Given the description of an element on the screen output the (x, y) to click on. 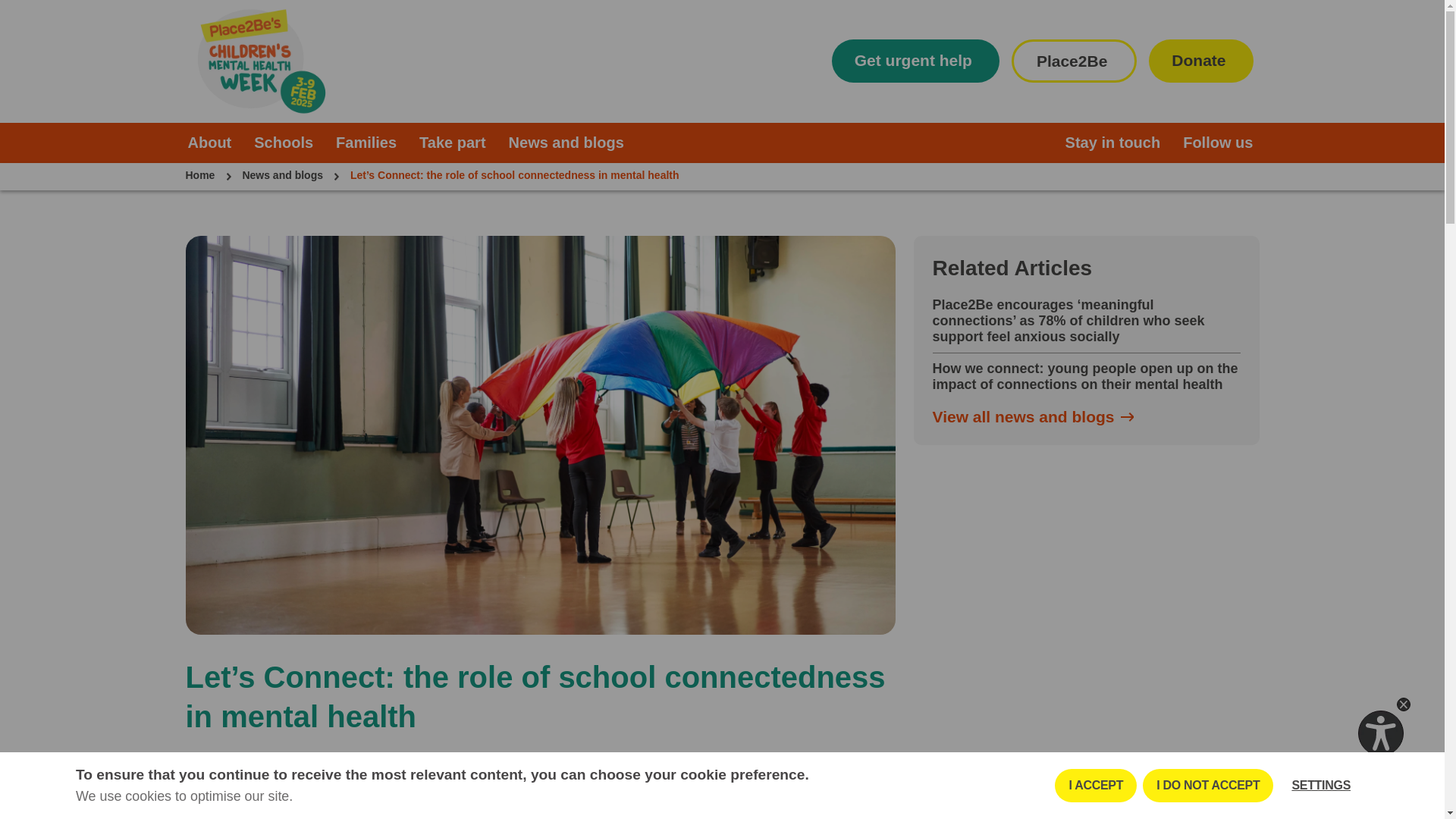
Stay in touch (1113, 142)
Get urgent help (914, 60)
Follow us (1220, 142)
Families (365, 142)
About (209, 142)
Donate (1200, 60)
News and blogs (282, 176)
Home (199, 176)
News and blogs (565, 142)
Place2Be (1074, 60)
Schools (283, 142)
Take part (451, 142)
